Given the description of an element on the screen output the (x, y) to click on. 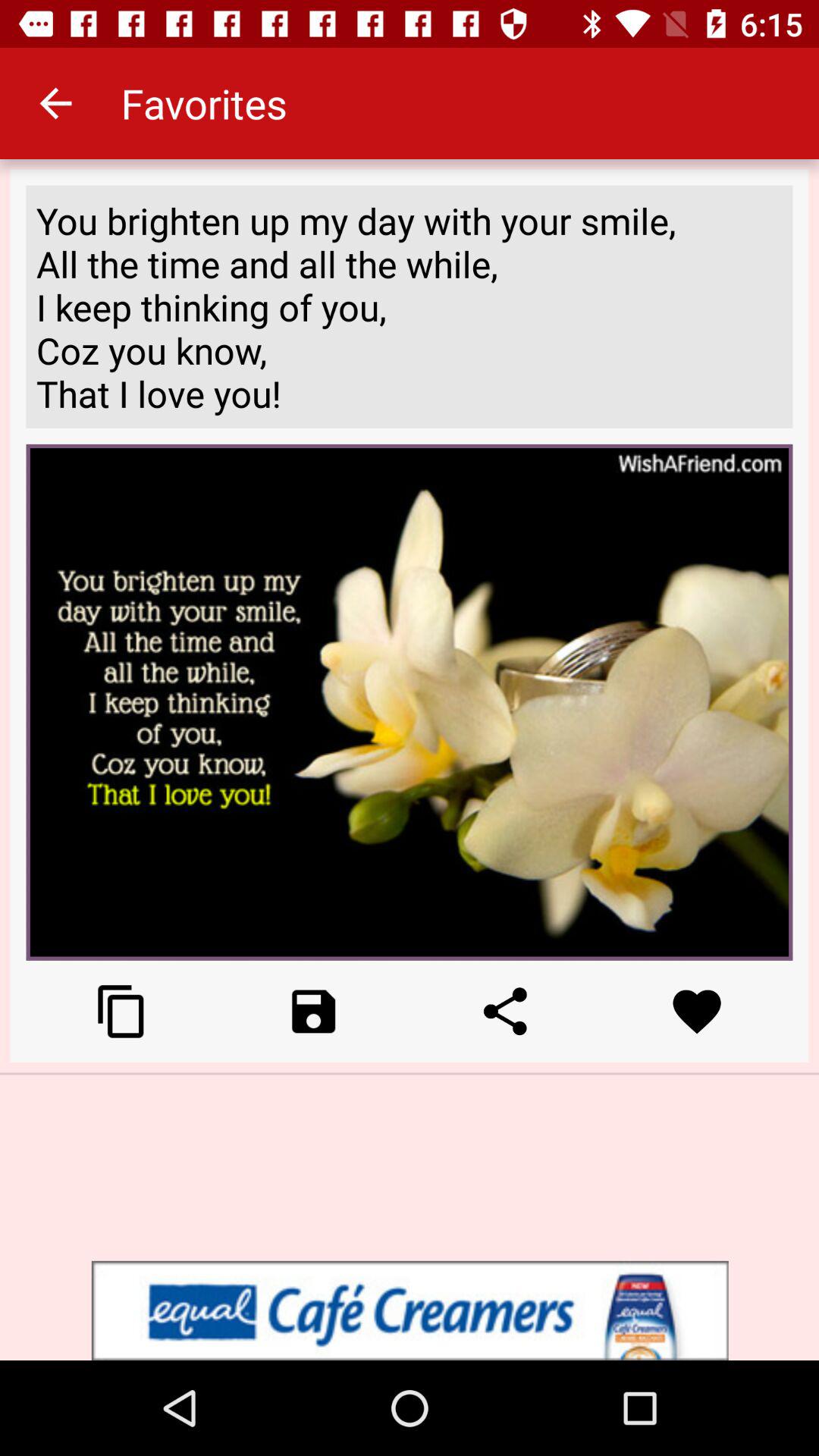
copy text (121, 1011)
